Given the description of an element on the screen output the (x, y) to click on. 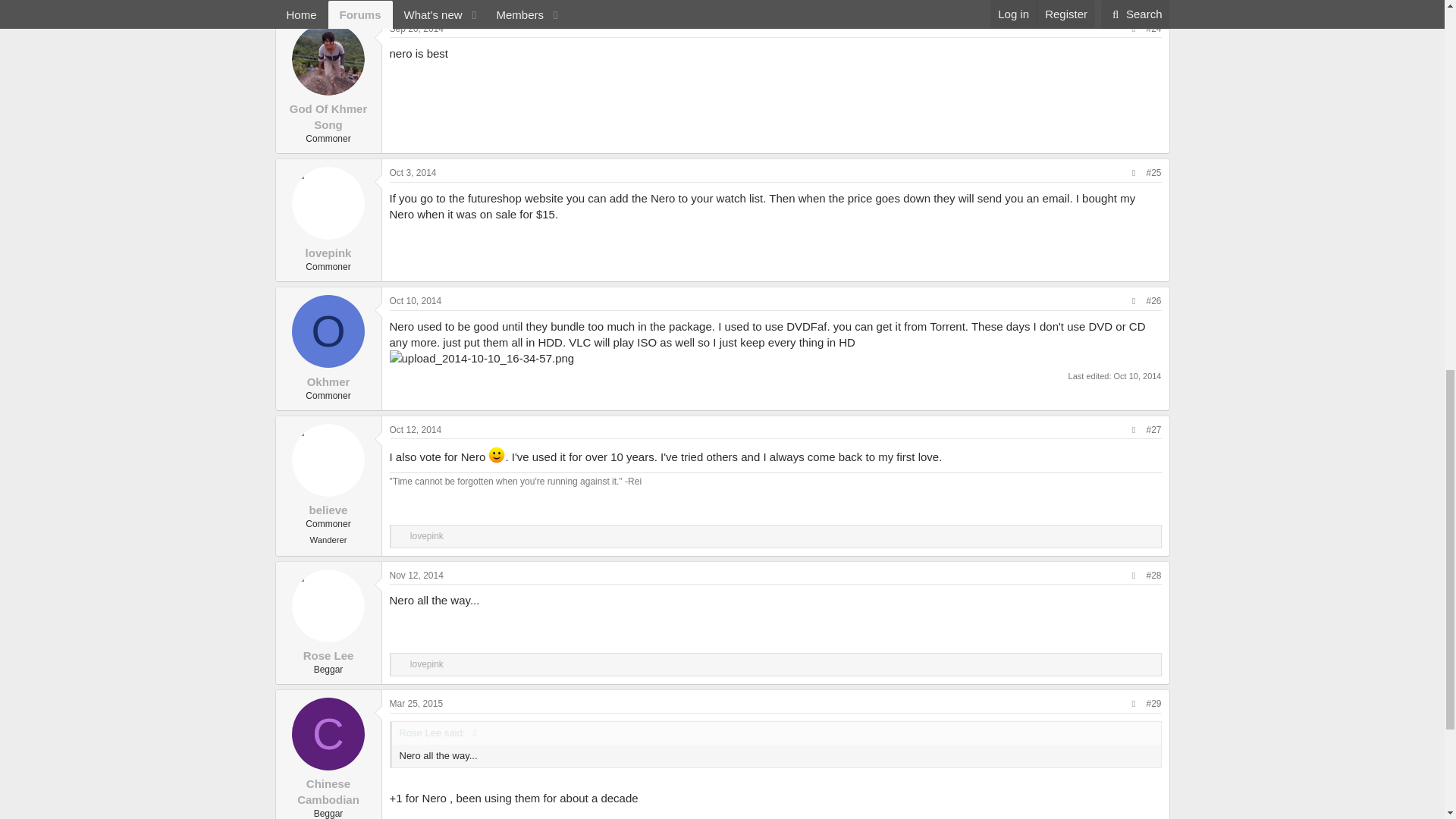
Oct 3, 2014 at 8:50 AM (413, 172)
Oct 10, 2014 at 1:36 AM (416, 300)
Sep 26, 2014 at 9:42 PM (417, 28)
